Given the description of an element on the screen output the (x, y) to click on. 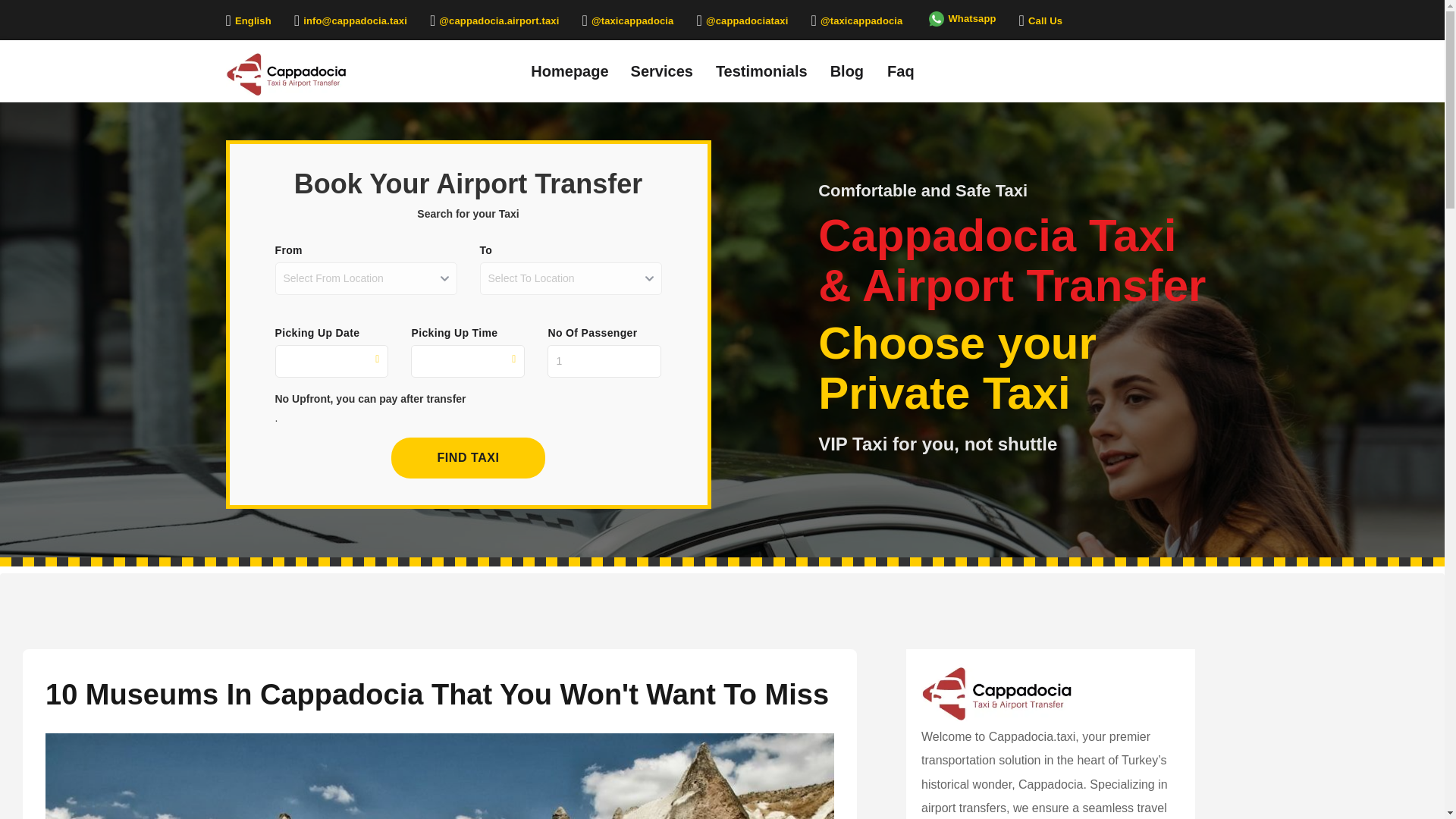
Homepage (569, 70)
FIND TAXI (467, 457)
Call Us (1040, 20)
Testimonials (761, 70)
Whatsapp (960, 18)
Services (662, 70)
Blog (846, 70)
1 (604, 360)
English (248, 20)
